Given the description of an element on the screen output the (x, y) to click on. 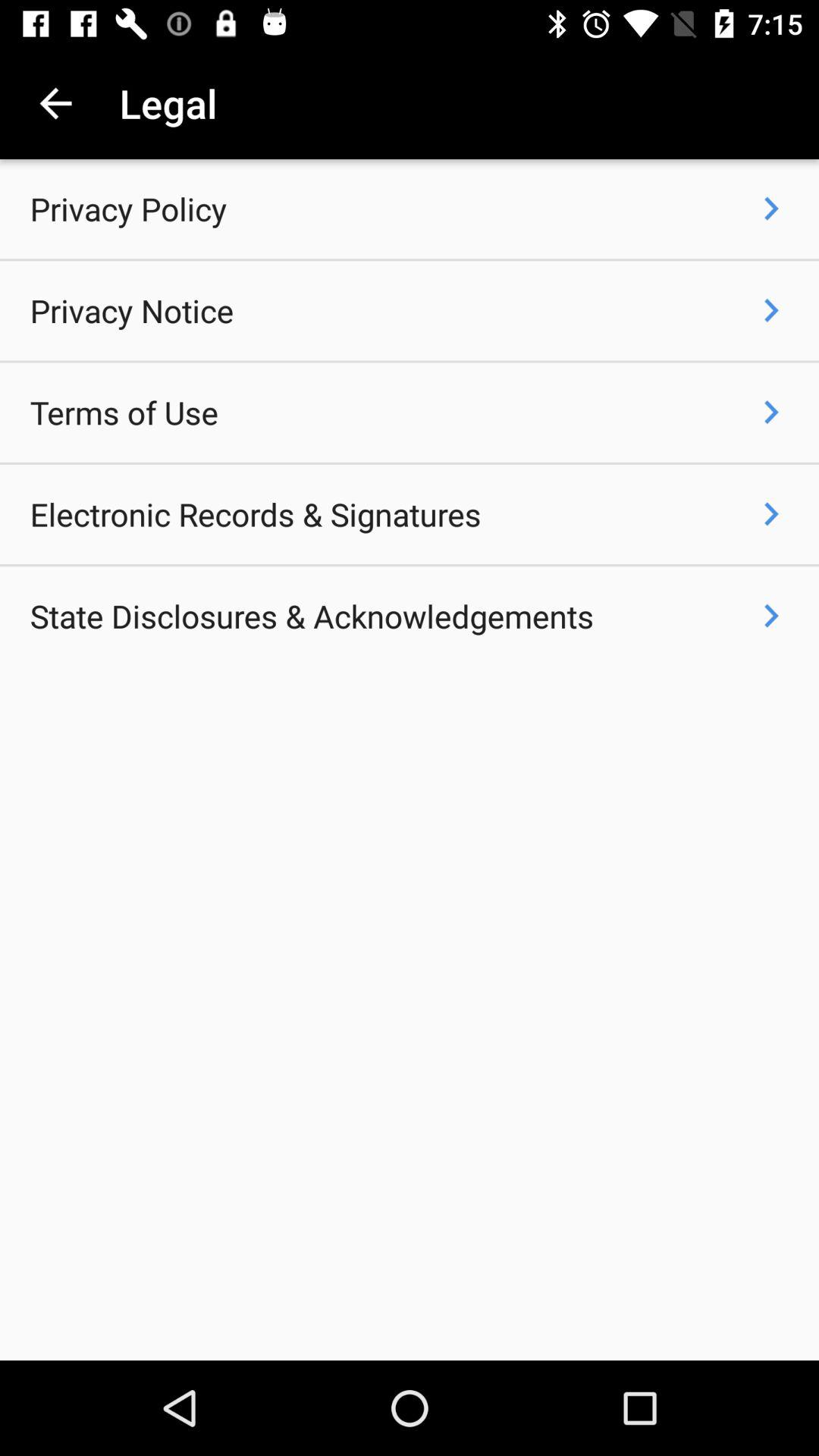
jump until privacy notice (131, 310)
